Given the description of an element on the screen output the (x, y) to click on. 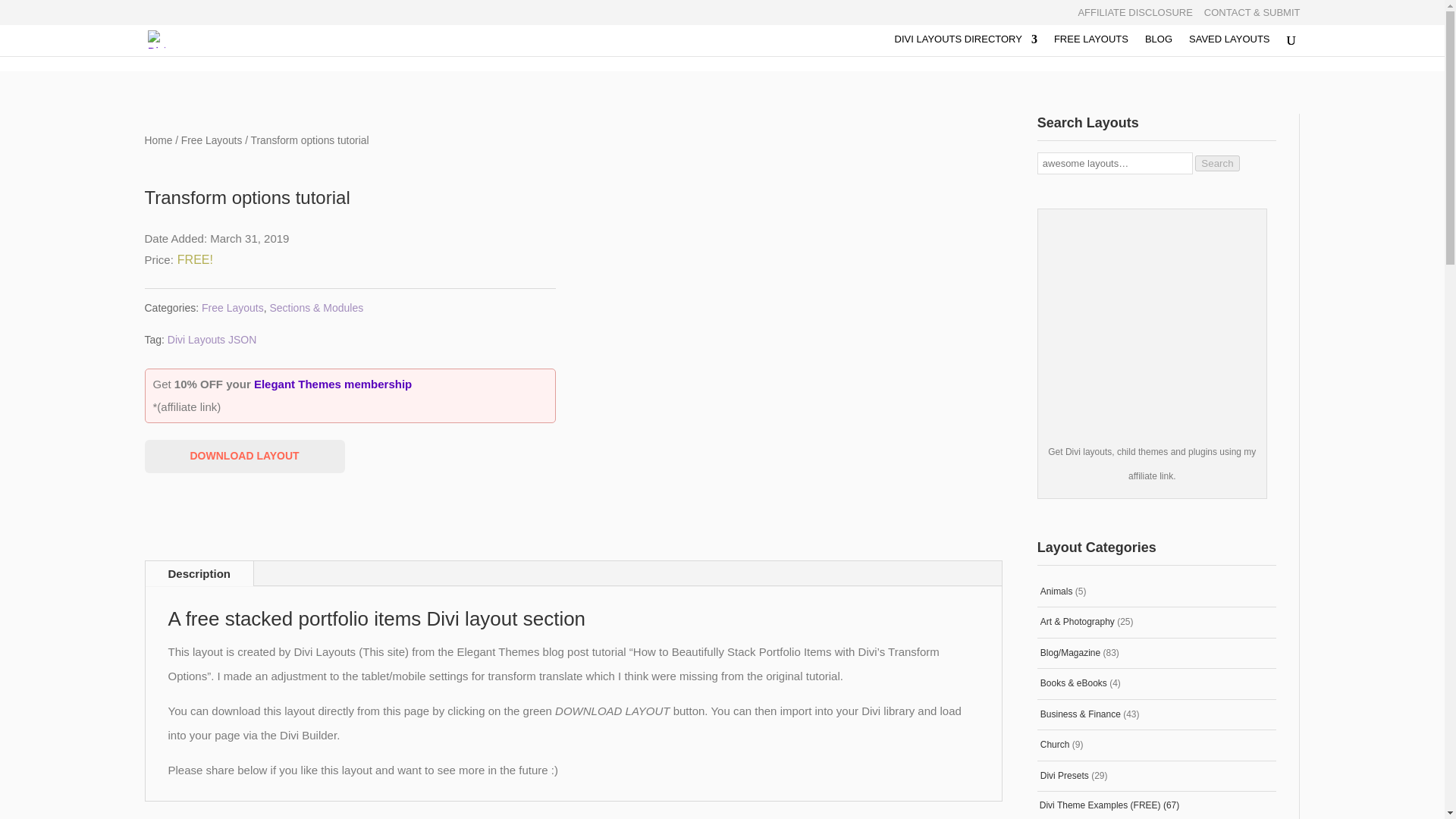
DIVI LAYOUTS DIRECTORY (965, 45)
AFFILIATE DISCLOSURE (1134, 16)
Elegant Themes membership (332, 383)
